Given the description of an element on the screen output the (x, y) to click on. 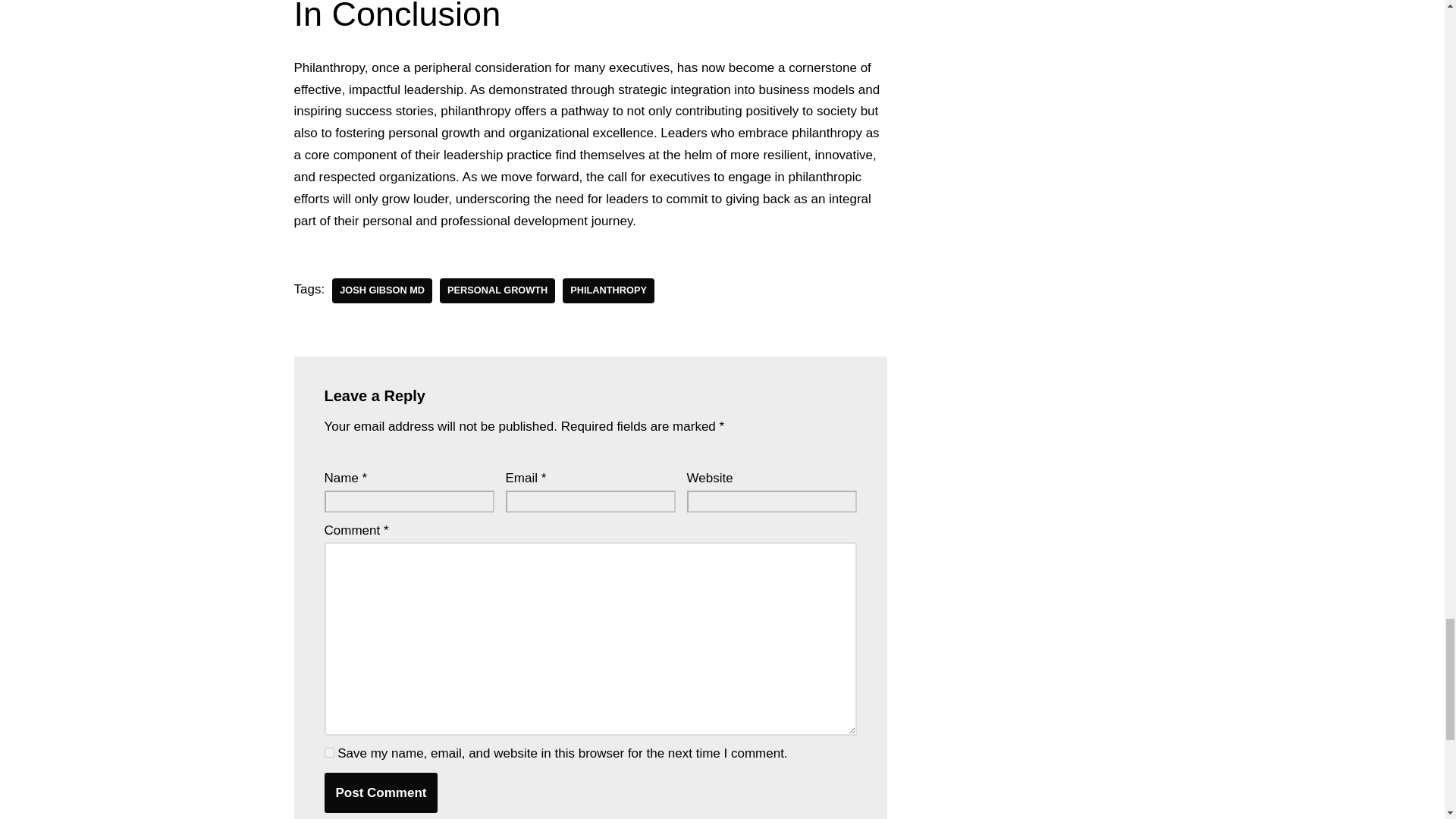
Philanthropy (607, 290)
yes (329, 752)
PERSONAL GROWTH (496, 290)
PHILANTHROPY (607, 290)
Post Comment (381, 793)
JOSH GIBSON MD (381, 290)
Personal Growth (496, 290)
Josh Gibson MD (381, 290)
Post Comment (381, 793)
